Given the description of an element on the screen output the (x, y) to click on. 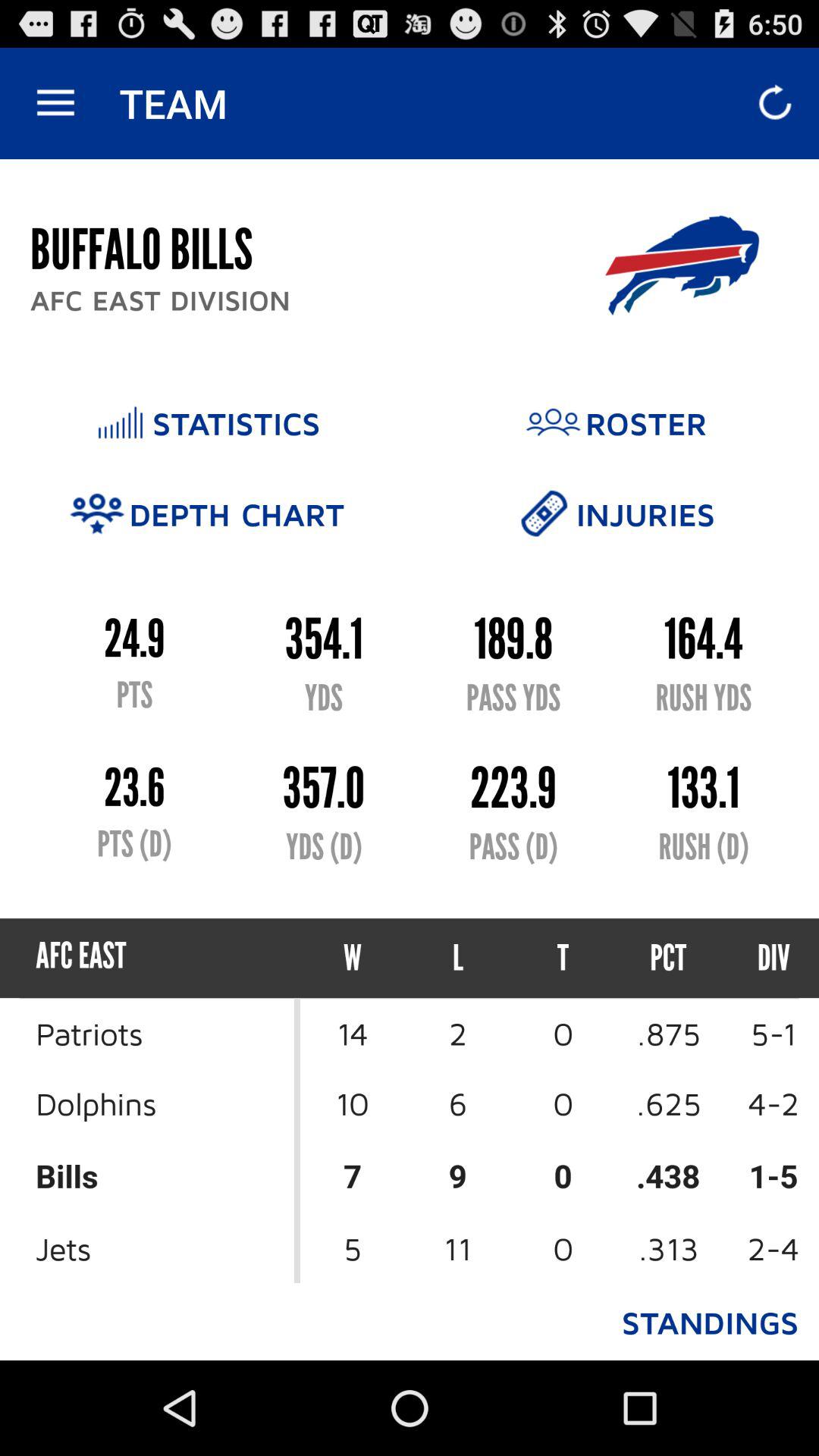
scroll until the w (352, 958)
